Given the description of an element on the screen output the (x, y) to click on. 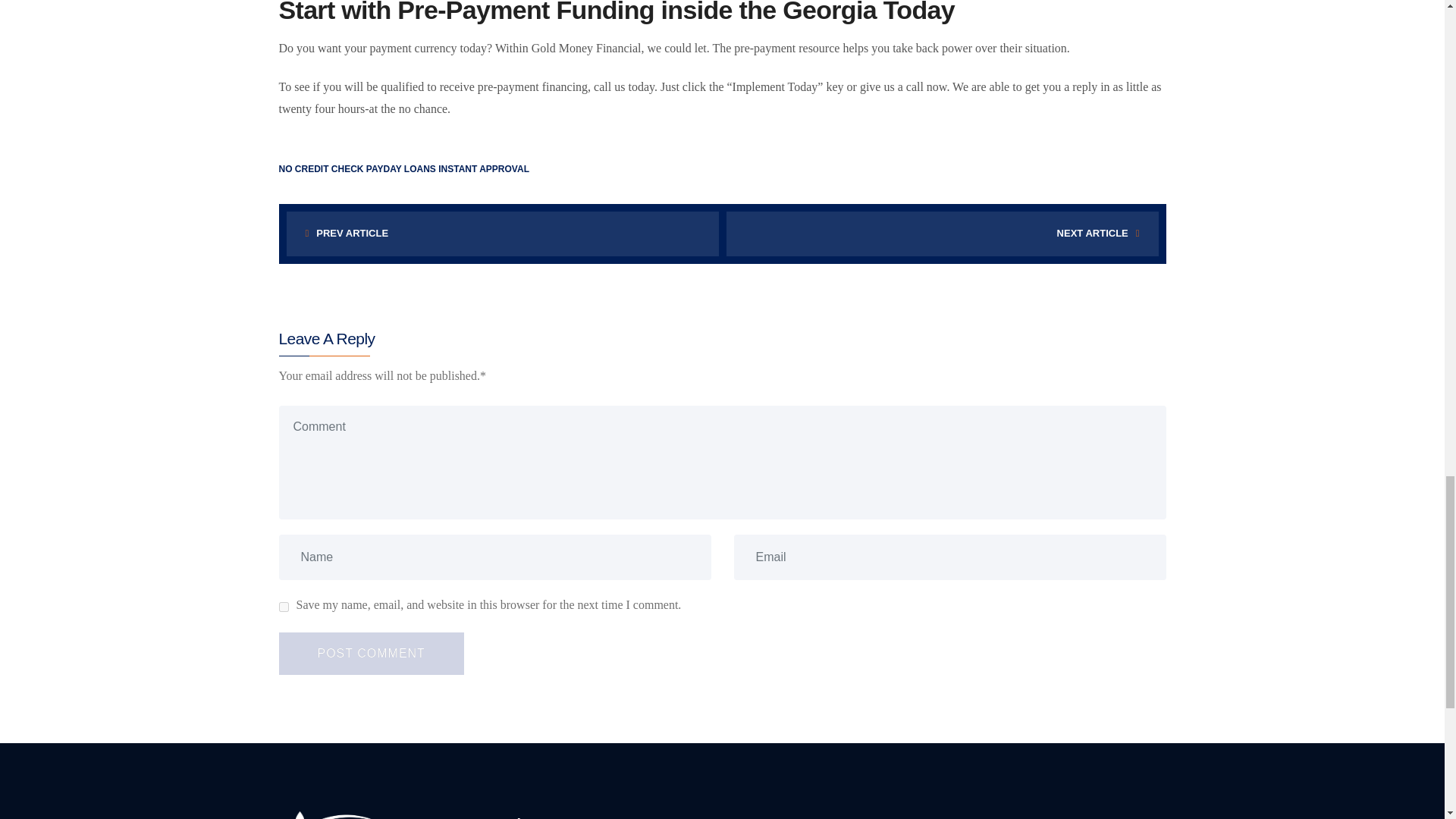
NO CREDIT CHECK PAYDAY LOANS INSTANT APPROVAL (404, 168)
NEXT ARTICLE (942, 233)
PREV ARTICLE (502, 233)
yes (283, 606)
